Given the description of an element on the screen output the (x, y) to click on. 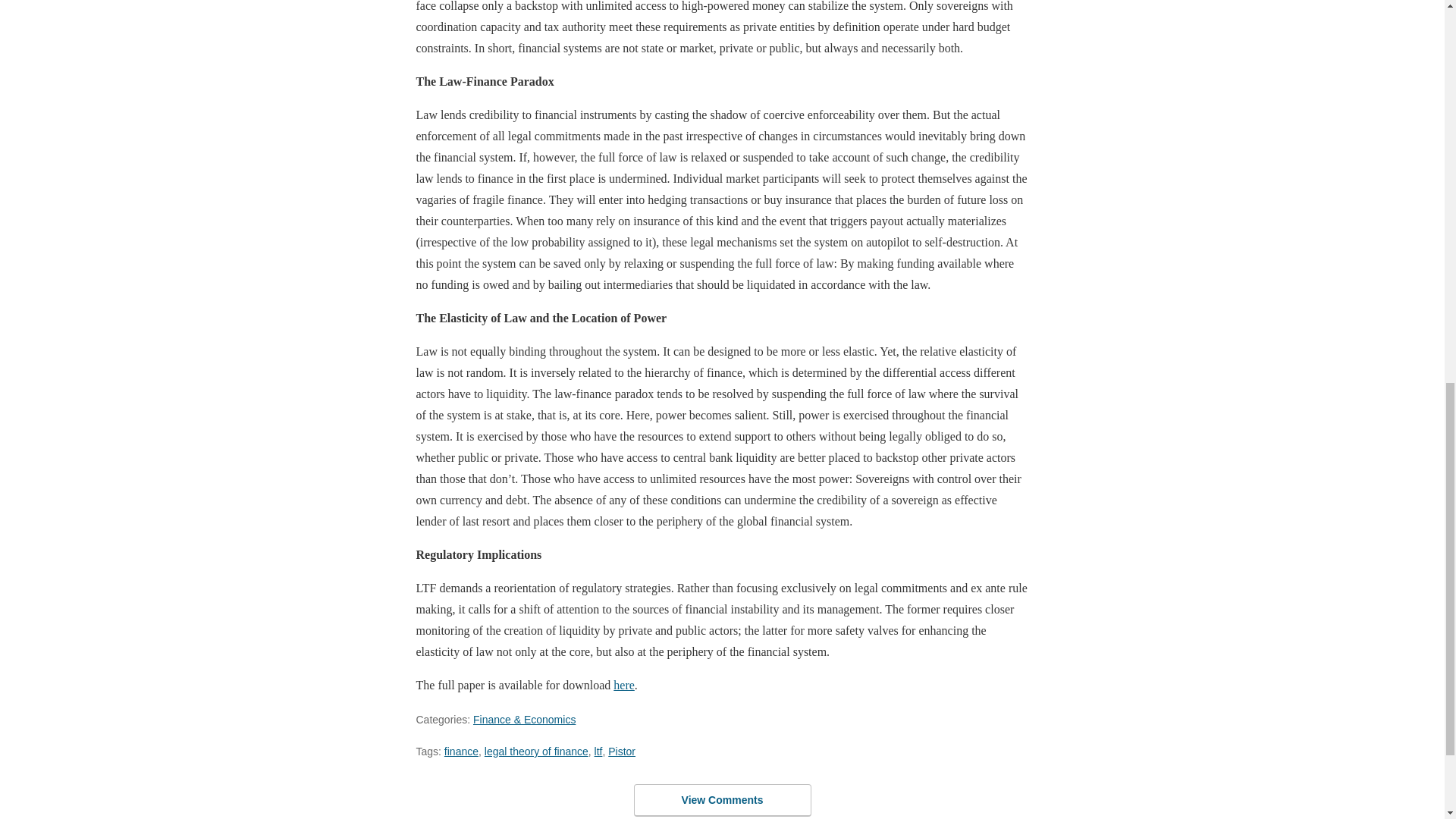
View Comments (721, 799)
here (623, 684)
Pistor (621, 751)
legal theory of finance (536, 751)
finance (461, 751)
